Given the description of an element on the screen output the (x, y) to click on. 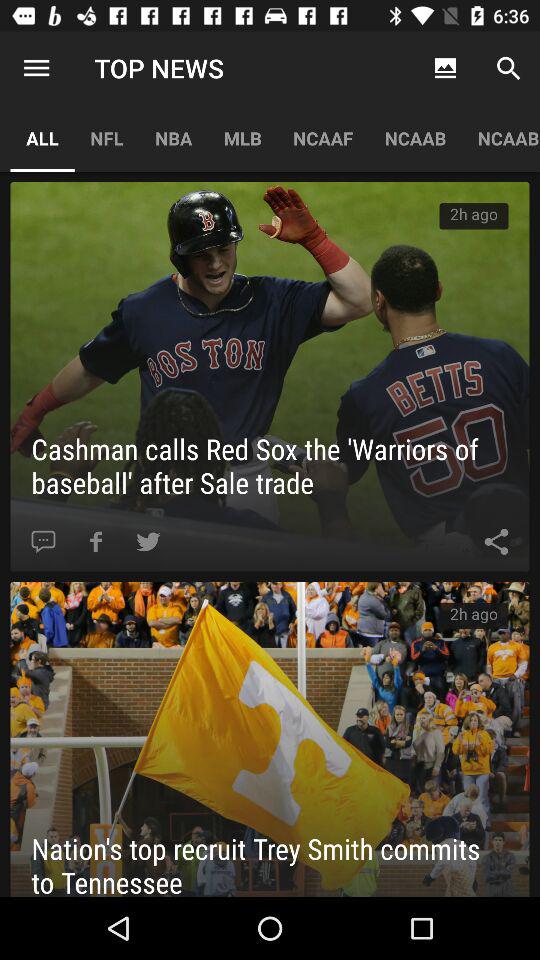
turn off the ncaabbl item (500, 138)
